Given the description of an element on the screen output the (x, y) to click on. 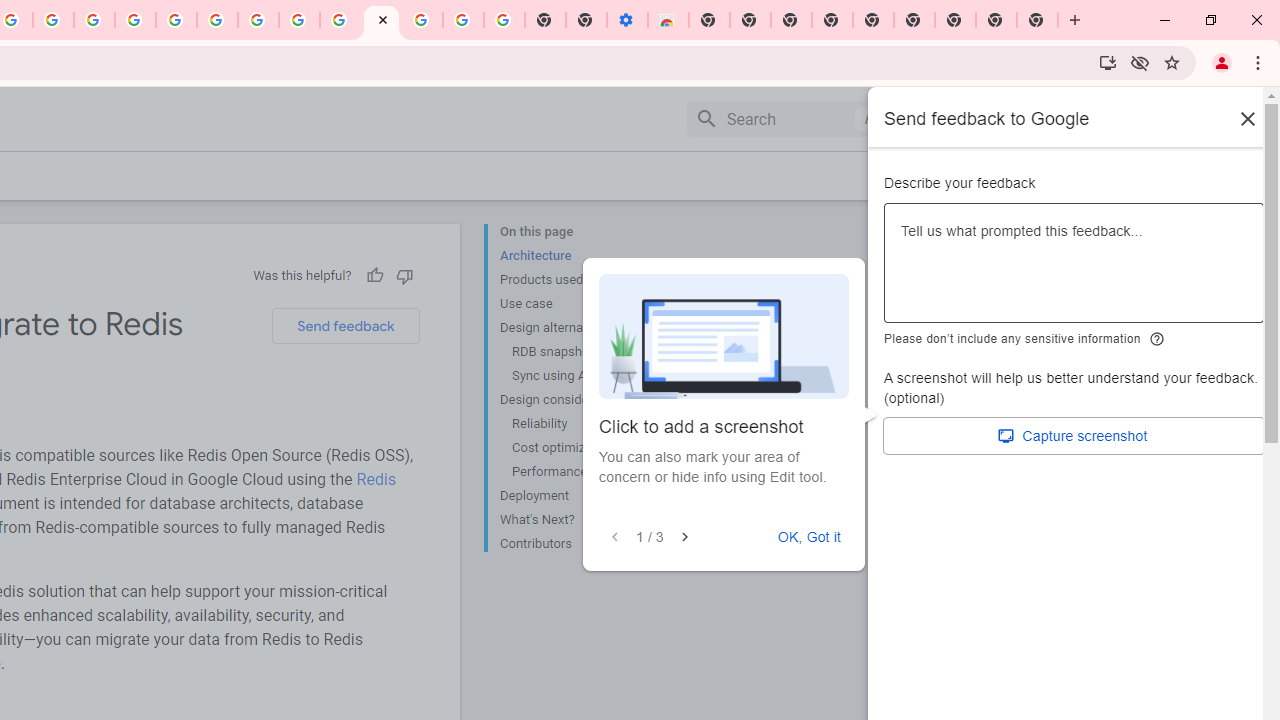
Products used (580, 279)
Sign in - Google Accounts (421, 20)
Google Account Help (217, 20)
Turn cookies on or off - Computer - Google Account Help (503, 20)
Docs, selected (942, 119)
Contact Us (1050, 175)
Deployment (580, 495)
Ad Settings (135, 20)
Performance (585, 471)
